Given the description of an element on the screen output the (x, y) to click on. 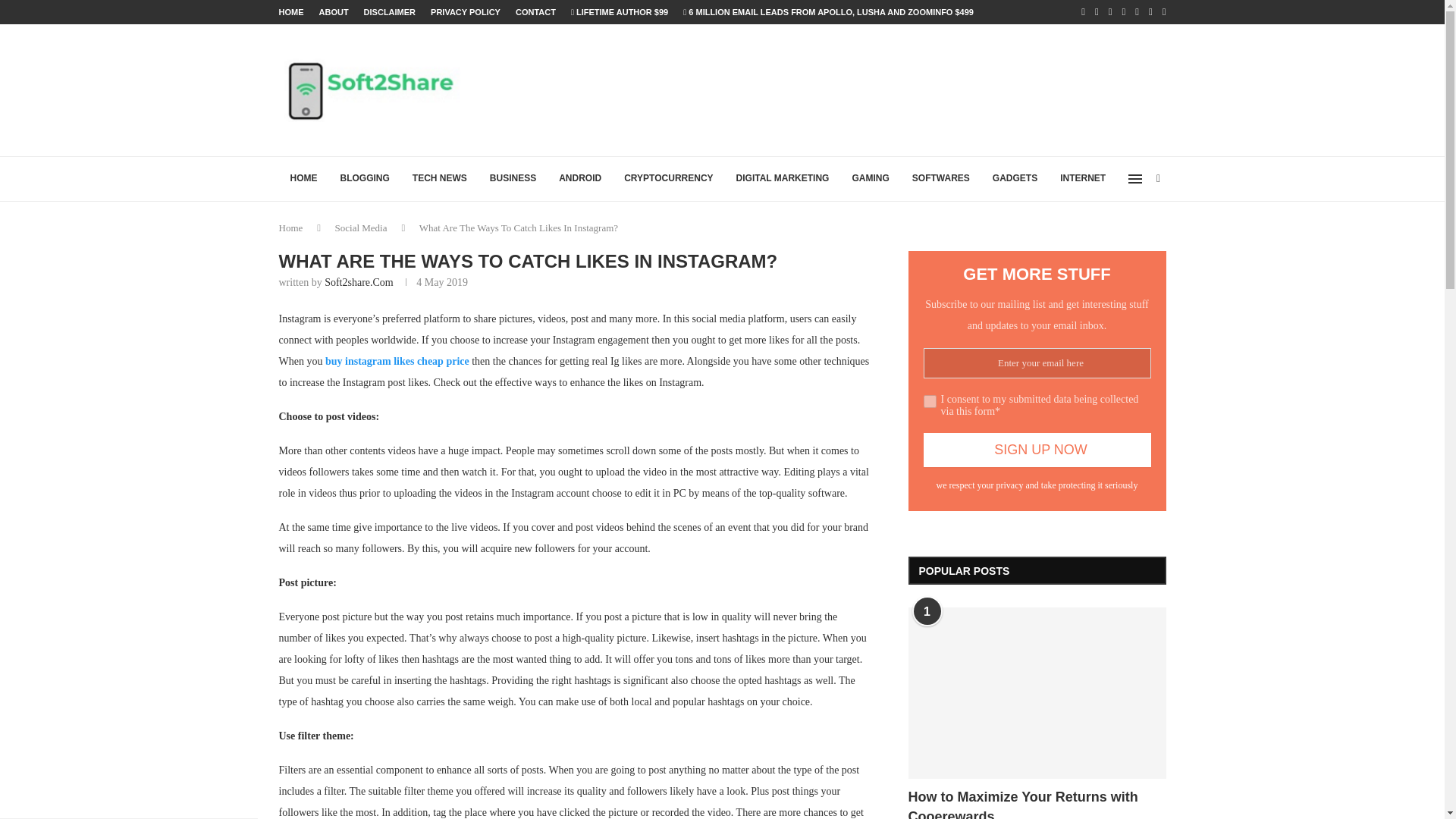
GADGETS (1014, 178)
DISCLAIMER (389, 12)
CRYPTOCURRENCY (667, 178)
Sign Up Now (1037, 449)
CONTACT (535, 12)
TECH NEWS (440, 178)
SOFTWARES (941, 178)
BLOGGING (365, 178)
on (929, 400)
Social Media (360, 227)
